Given the description of an element on the screen output the (x, y) to click on. 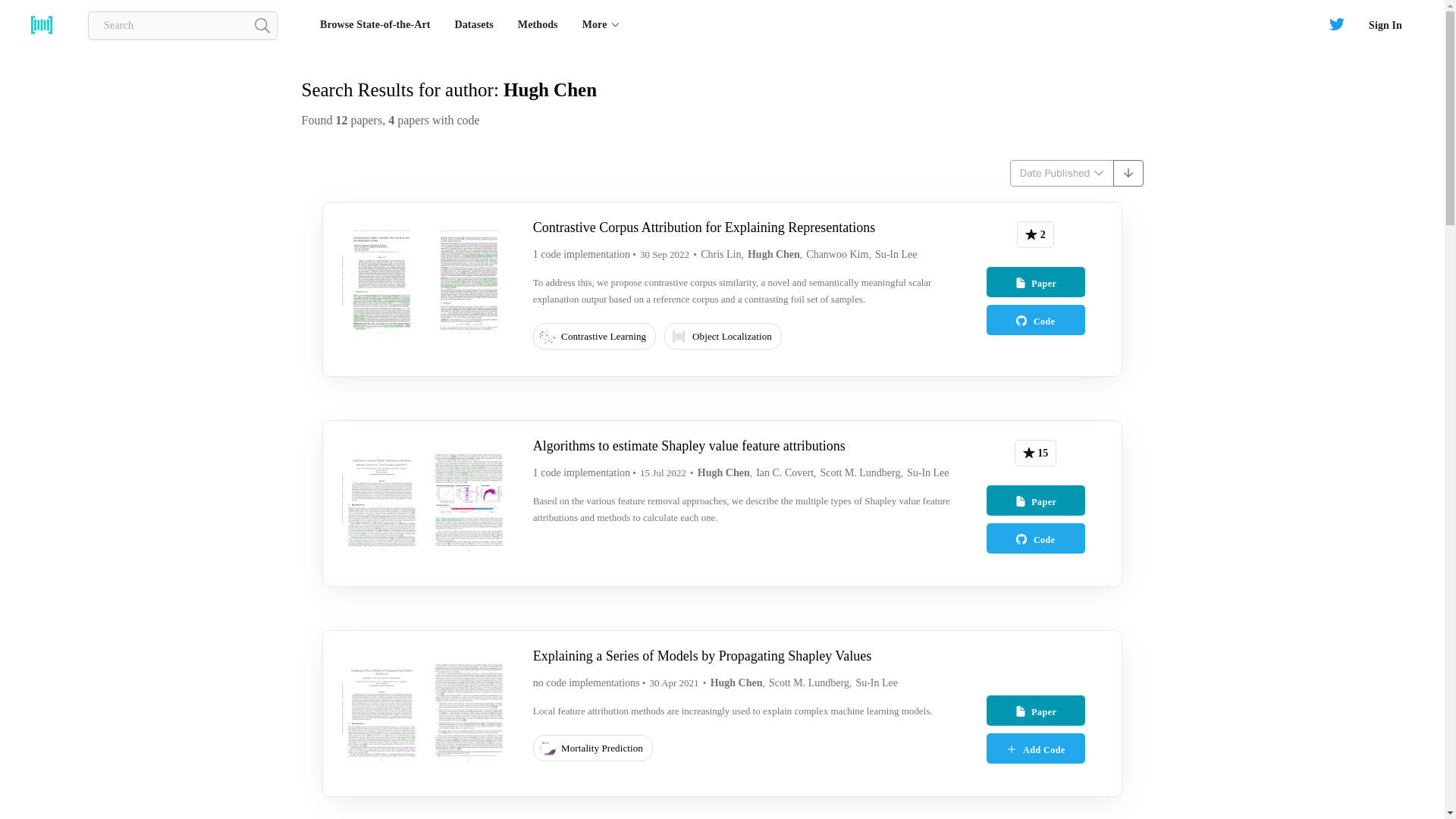
Object Localization (725, 337)
Chanwoo Kim (836, 254)
Contrastive Learning (597, 337)
Chris Lin (720, 254)
Datasets (473, 24)
More (600, 24)
Code (1034, 319)
Algorithms to estimate Shapley value feature attributions (688, 445)
Hugh Chen (773, 254)
Su-In Lee (896, 254)
1 code implementation (581, 472)
Browse State-of-the-Art (374, 24)
1 code implementation (581, 254)
Sign In (1384, 24)
Methods (537, 24)
